Given the description of an element on the screen output the (x, y) to click on. 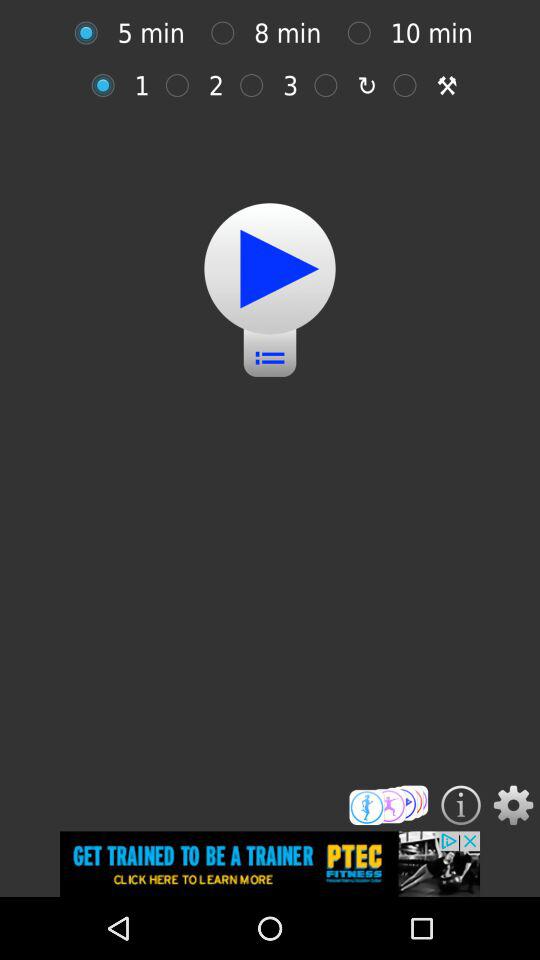
app information (460, 805)
